Given the description of an element on the screen output the (x, y) to click on. 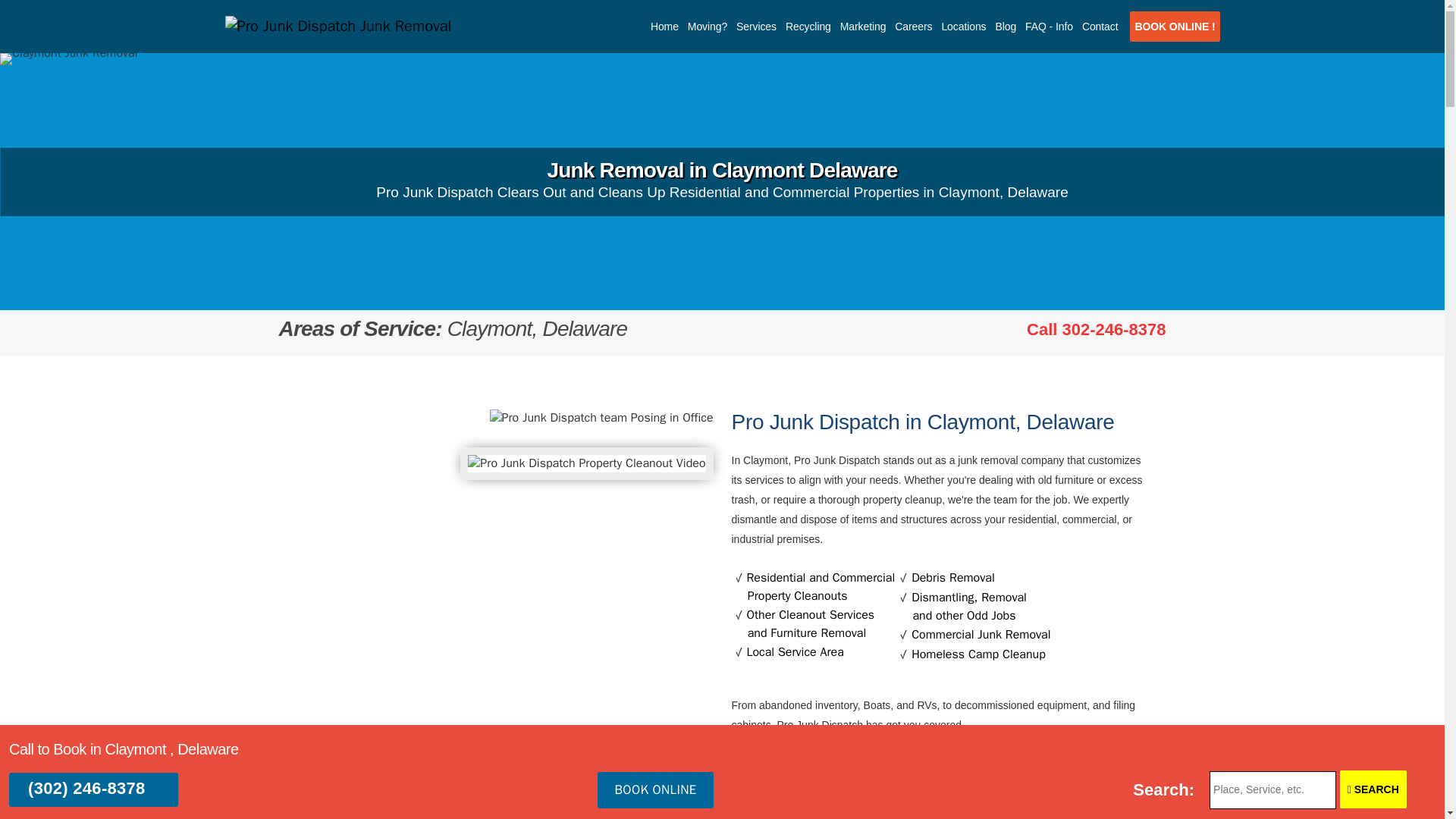
Call Today for Claymont Junk Removal and Hauling Services (1096, 329)
Pro Junk Dispatch Property Cleanout Video (586, 463)
Claymont Junk Removal (69, 59)
Debris Removal (952, 577)
Commercial Junk Removal (980, 634)
Marketing (863, 26)
Contact (1099, 26)
Home (664, 26)
Recycling (807, 26)
Blog (1005, 26)
